Given the description of an element on the screen output the (x, y) to click on. 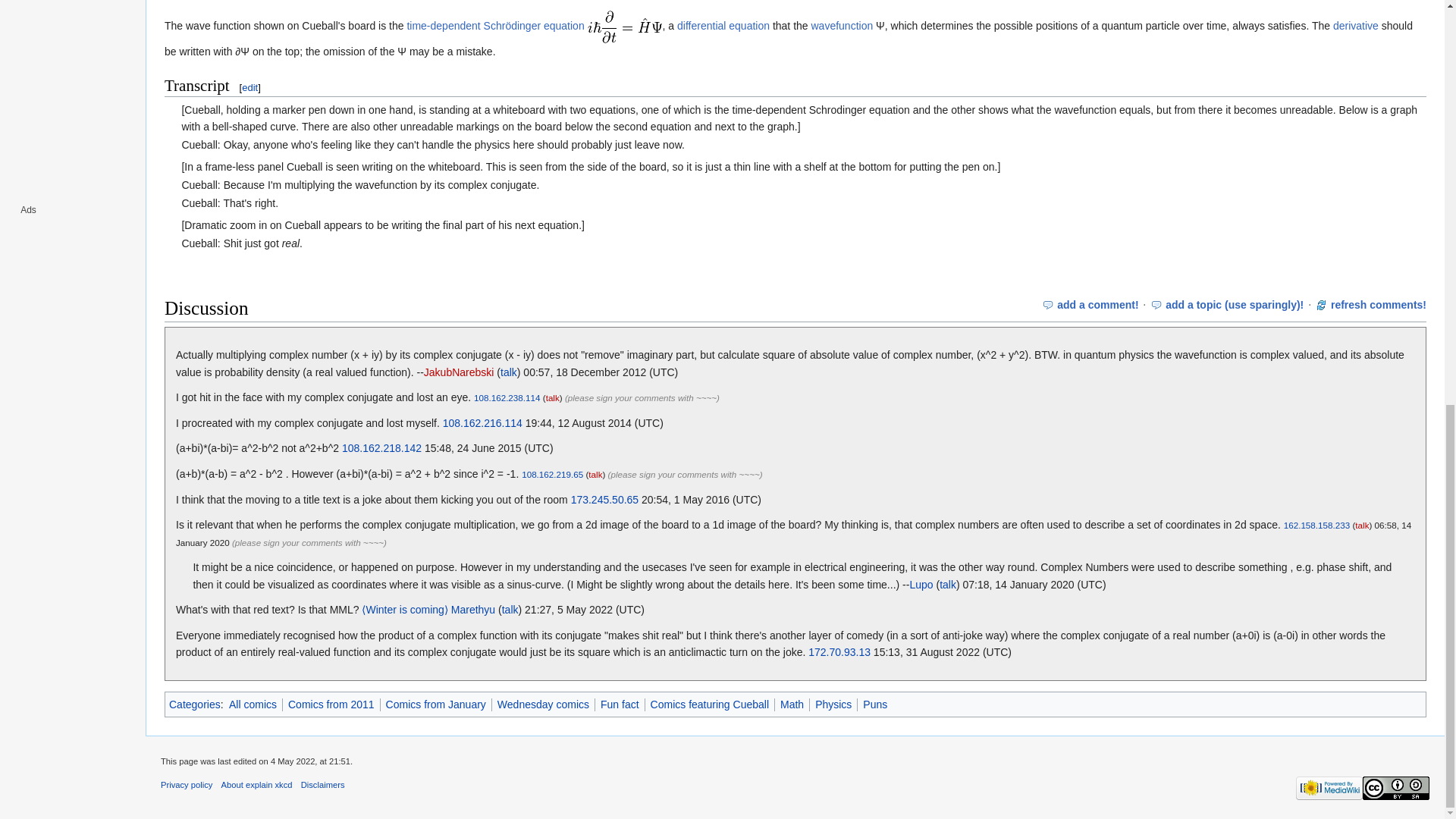
differential equation (723, 25)
edit (249, 87)
derivative (1355, 25)
173.245.50.65 (604, 499)
talk (552, 397)
108.162.238.114 (507, 397)
162.158.158.233 (1317, 524)
108.162.218.142 (382, 448)
refresh comments! (1378, 304)
talk (947, 584)
108.162.219.65 (552, 474)
talk (1361, 524)
add a comment! (1097, 304)
wavefunction (841, 25)
talk (508, 372)
